Given the description of an element on the screen output the (x, y) to click on. 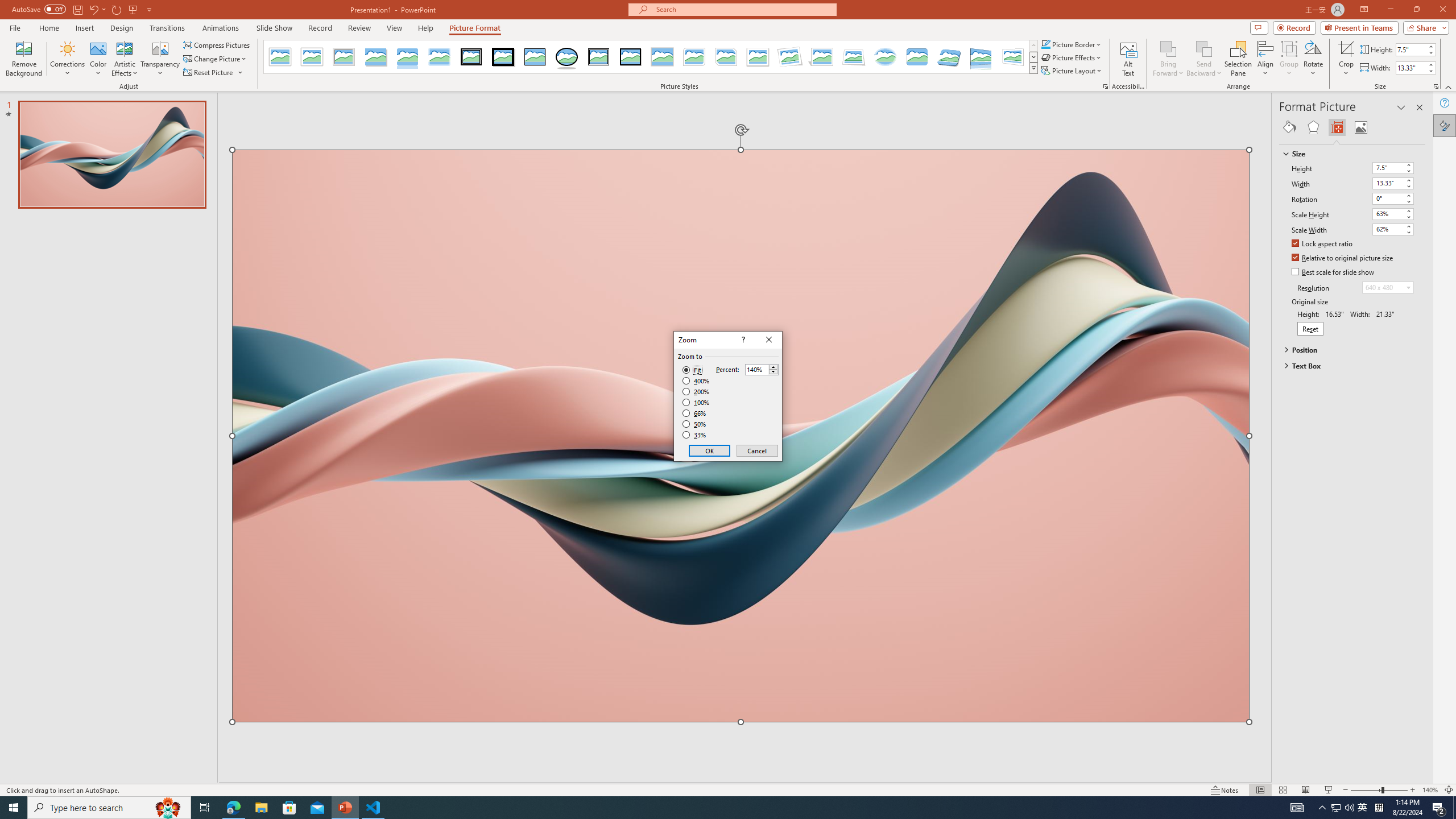
Rotated, White (790, 56)
Width (1393, 183)
Send Backward (1204, 58)
Transparency (160, 58)
Width (1388, 182)
Artistic Effects (124, 58)
